Given the description of an element on the screen output the (x, y) to click on. 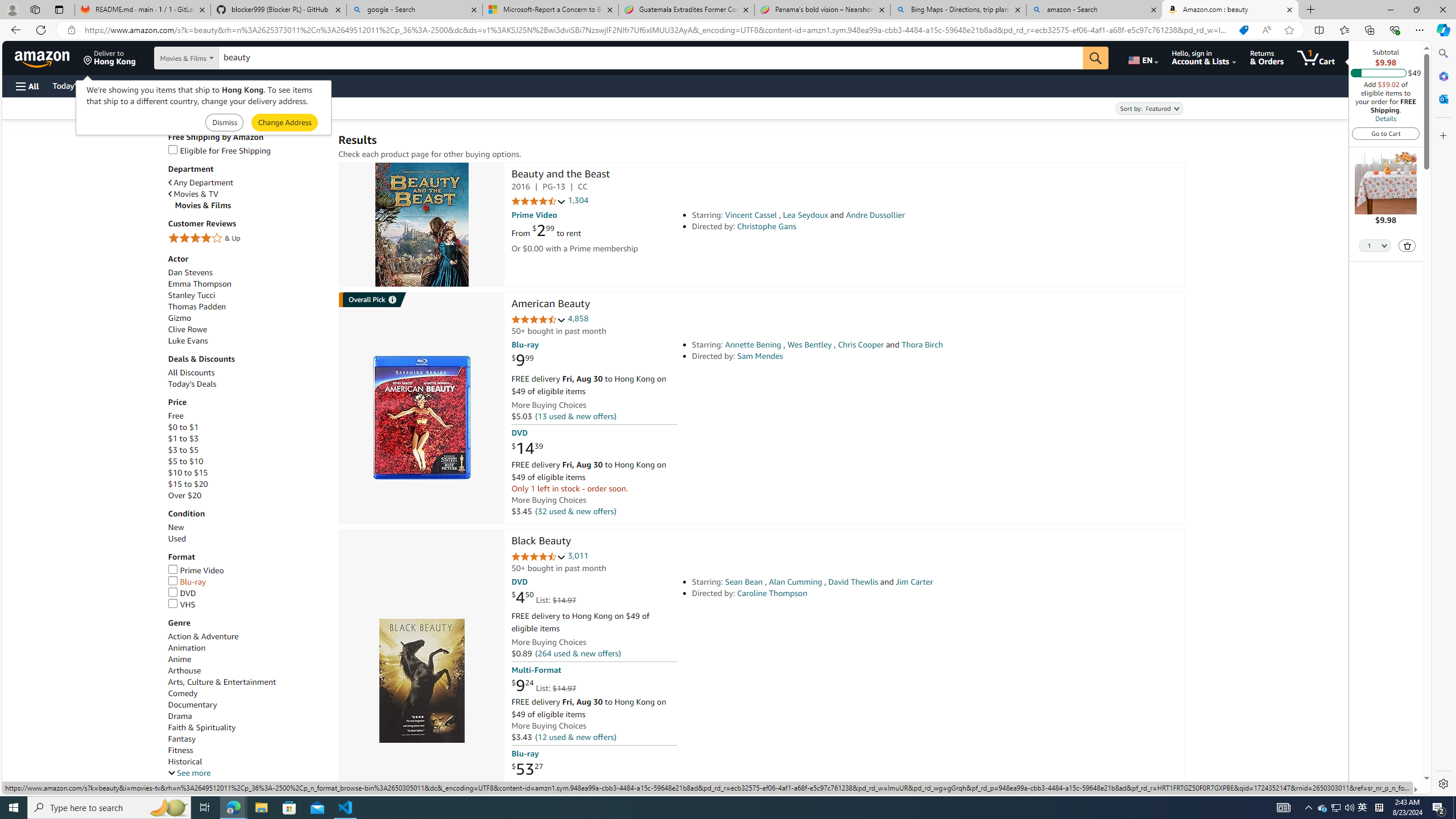
Skip to main search results (50, 780)
Fantasy (247, 738)
Prime Video (247, 570)
Movies & TV (192, 194)
3,011 (577, 556)
Free (175, 415)
Gizmo (247, 317)
Go back to filtering menu (48, 780)
Starring: Vincent Cassel , Lea Seydoux and Andre Dussollier (850, 215)
Action & Adventure (202, 636)
Thomas Padden (196, 306)
VHS (181, 604)
